Given the description of an element on the screen output the (x, y) to click on. 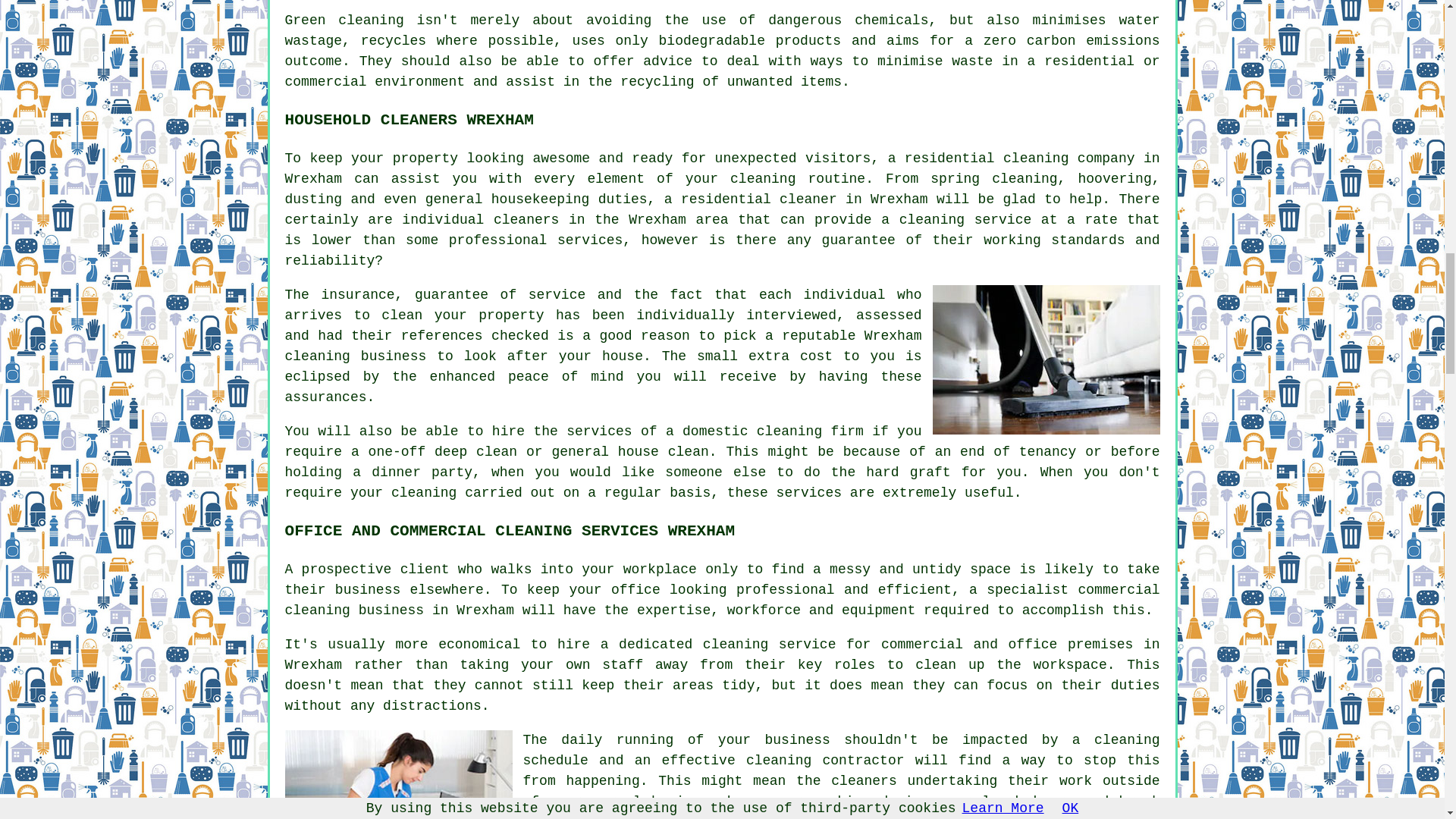
House Cleaning Near Wrexham Wales (1046, 359)
